Given the description of an element on the screen output the (x, y) to click on. 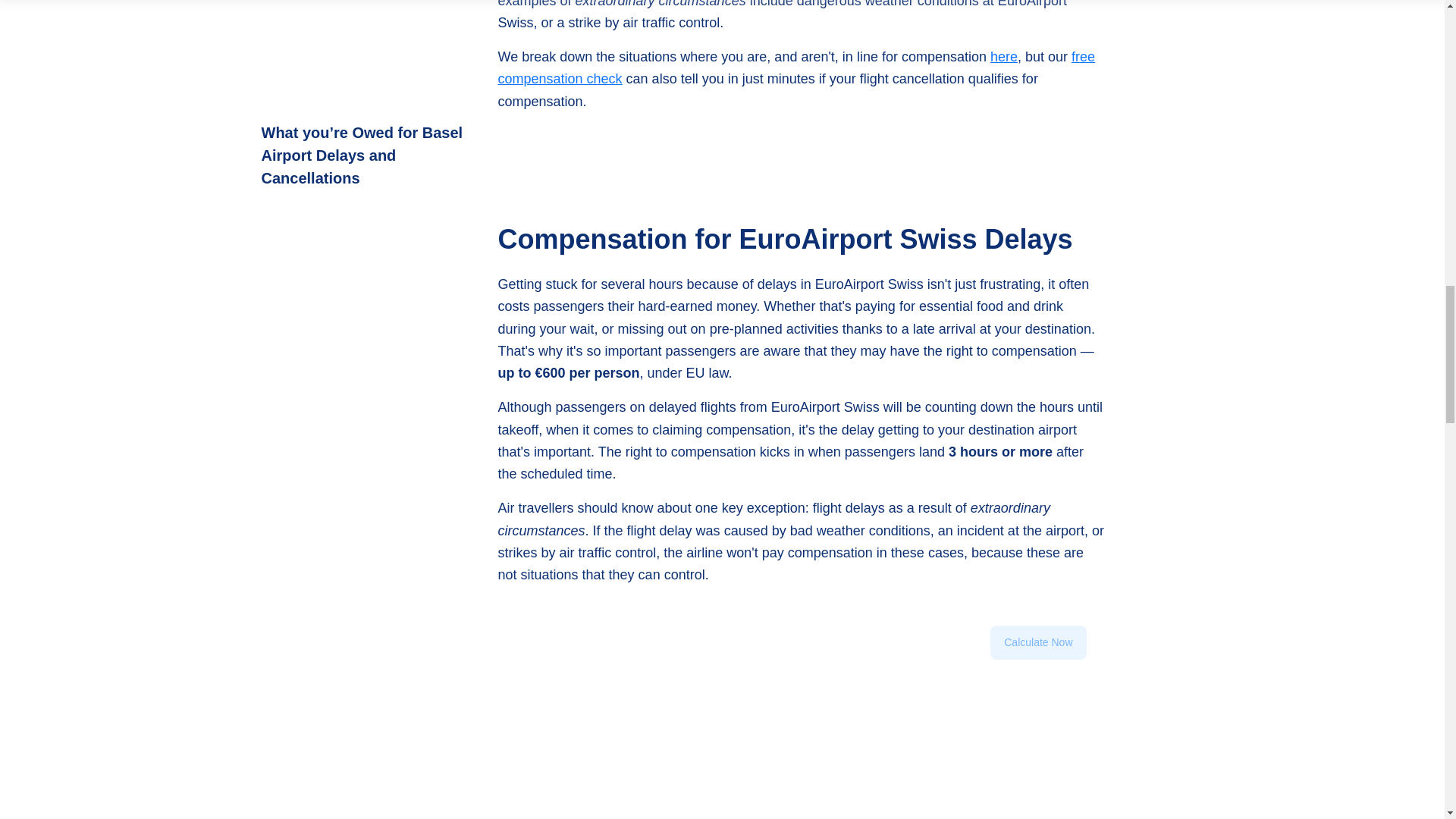
Calculate Now (1038, 642)
here (1003, 56)
Calculate Now (1038, 666)
free compensation check (795, 67)
